Given the description of an element on the screen output the (x, y) to click on. 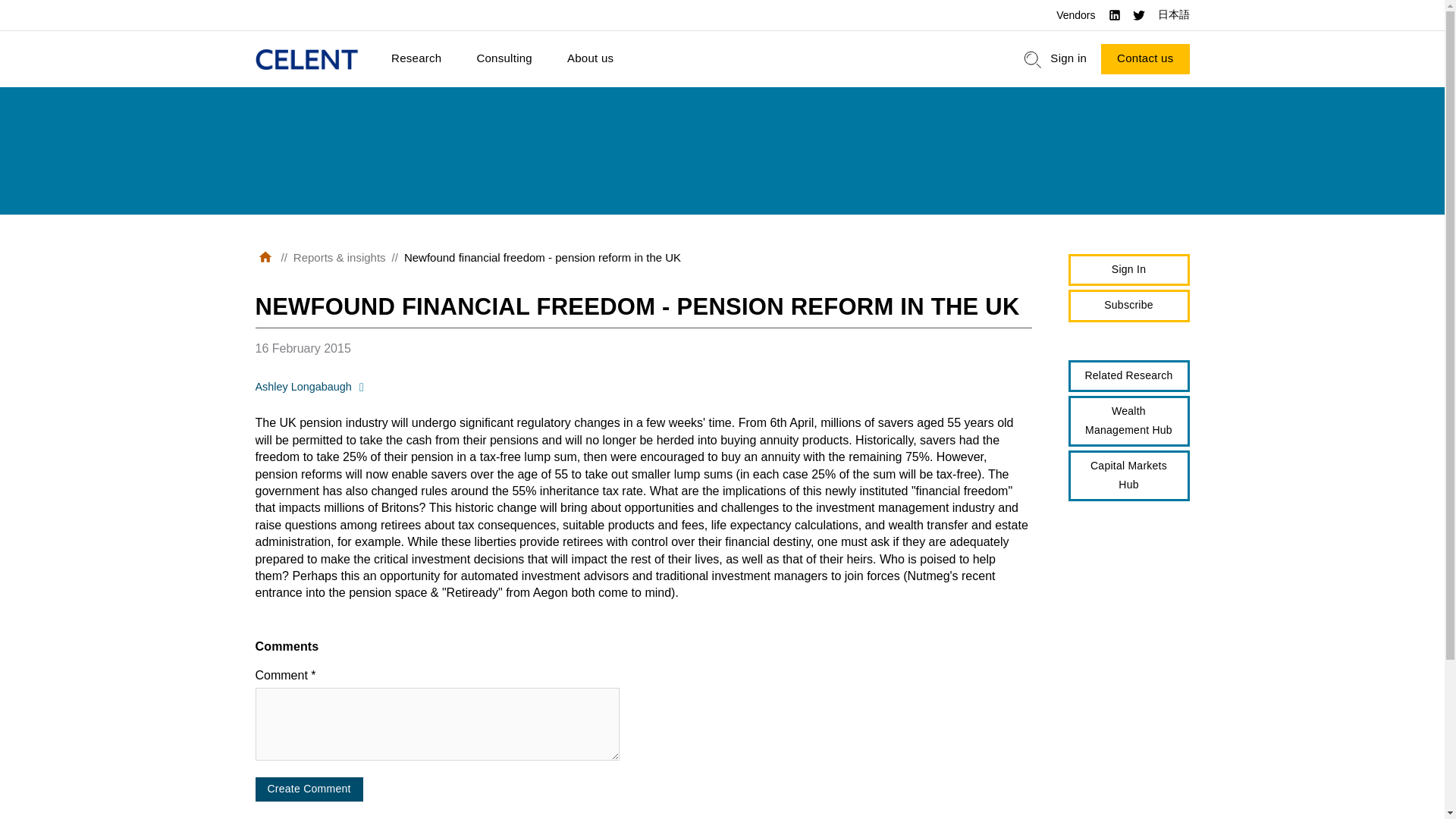
Sign in (1068, 59)
Vendors (1075, 15)
About us (590, 59)
Subscribe (1128, 305)
Home (306, 59)
Research (415, 59)
Sign In (1128, 269)
search (1032, 58)
Create Comment (308, 789)
Contact us (1144, 59)
